Given the description of an element on the screen output the (x, y) to click on. 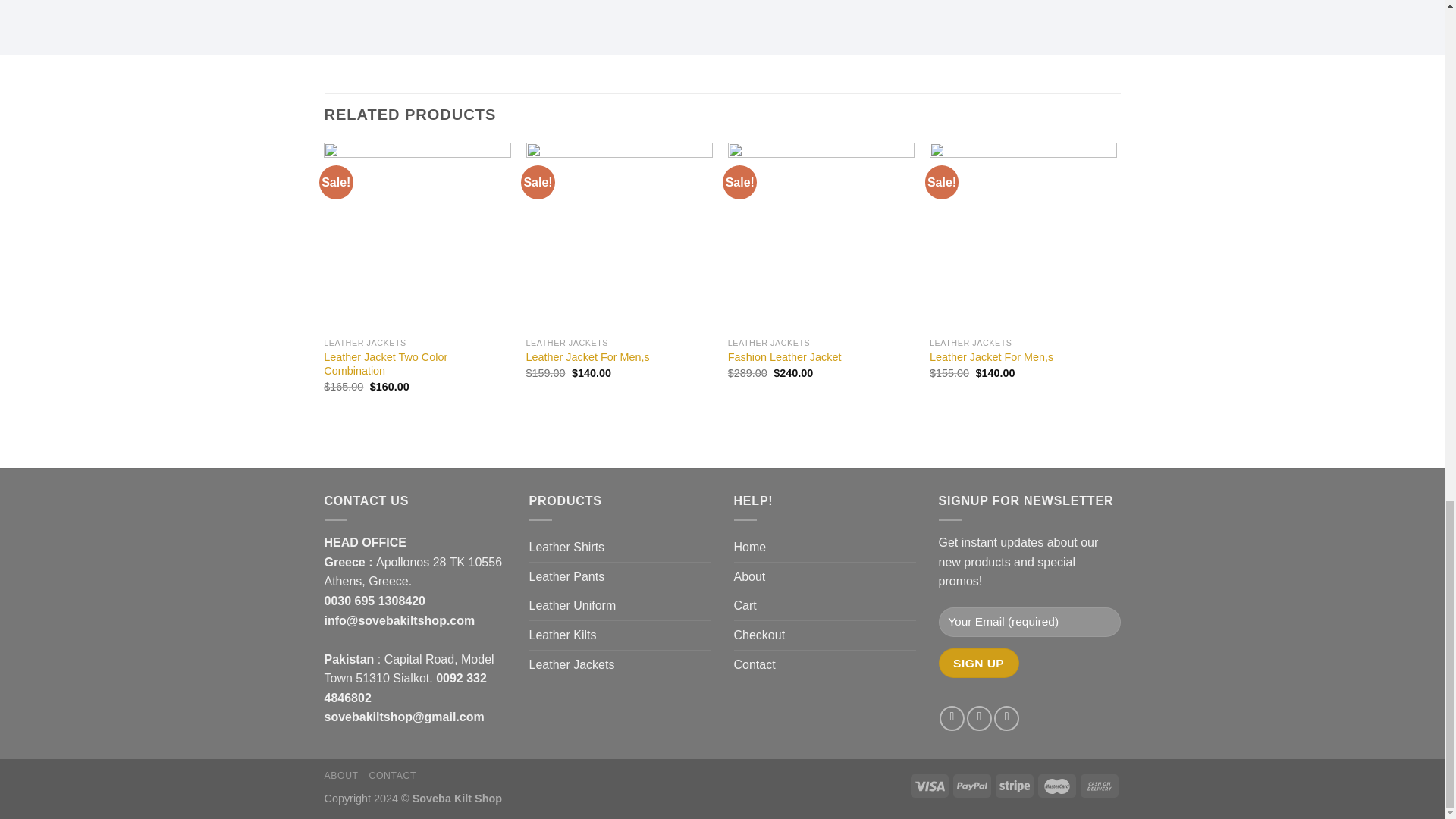
Follow on Instagram (978, 718)
Follow on Twitter (1006, 718)
Follow on Facebook (951, 718)
Sign Up (979, 663)
